Given the description of an element on the screen output the (x, y) to click on. 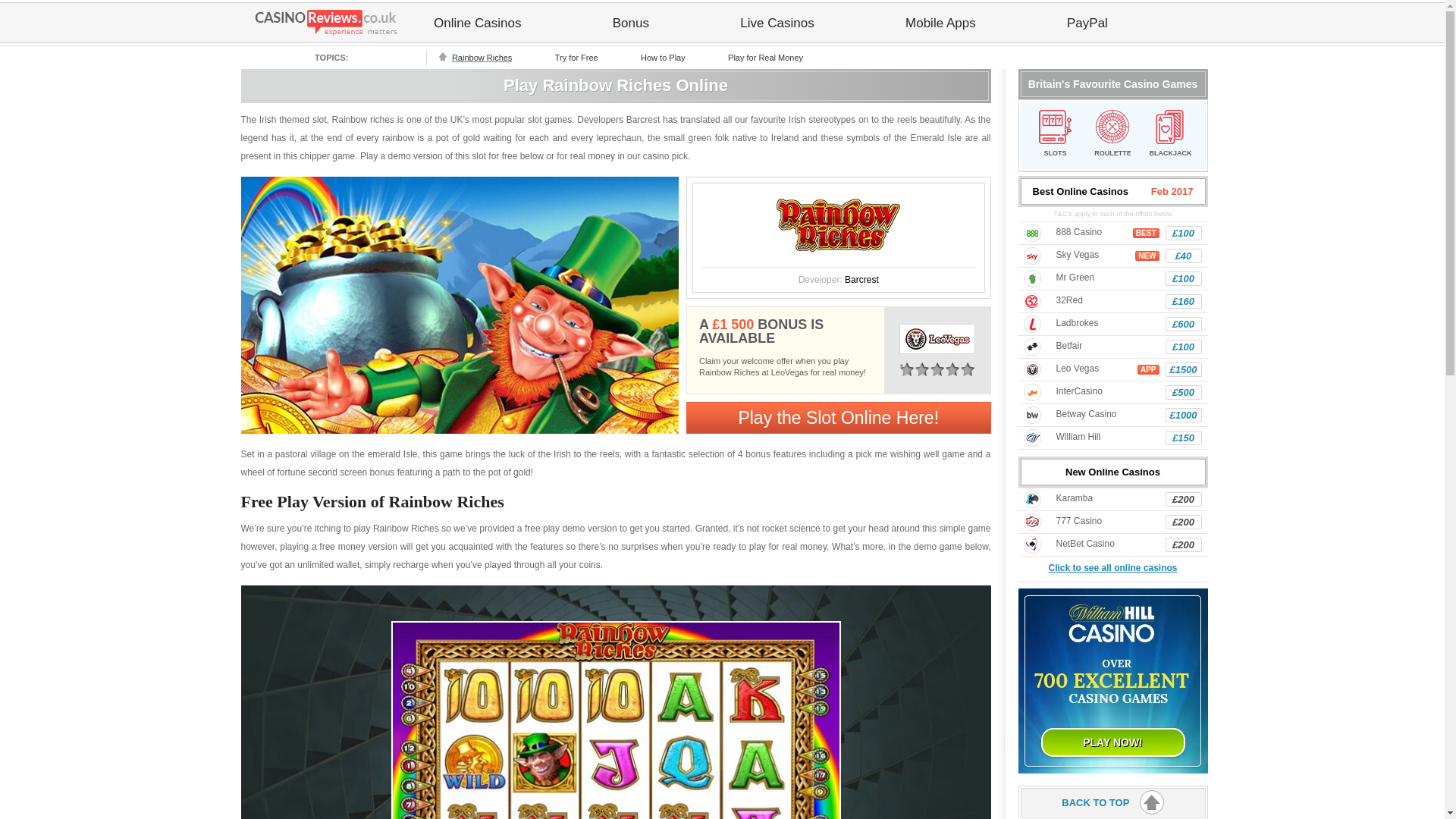
Bonus (630, 23)
Live Casinos (776, 23)
Rainbow Riches (481, 56)
Online Casinos (477, 23)
Try for Free (576, 56)
How to Play (662, 56)
Play for Real Money (764, 56)
